Given the description of an element on the screen output the (x, y) to click on. 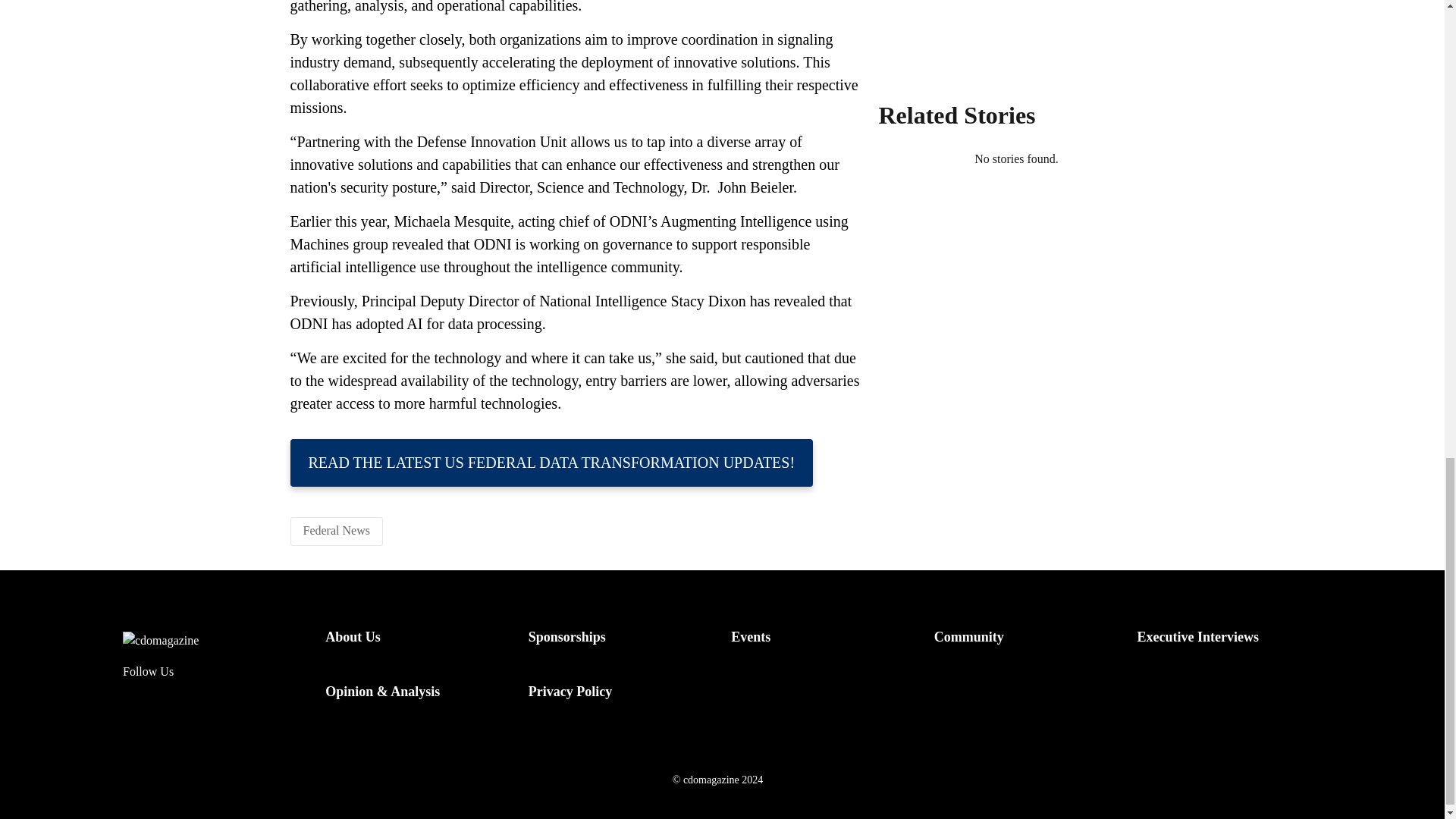
Federal News (335, 530)
Privacy Policy (569, 691)
Executive Interviews (1197, 636)
Community (969, 636)
READ THE LATEST US FEDERAL DATA TRANSFORMATION UPDATES! (550, 462)
Events (750, 636)
About Us (352, 636)
Sponsorships (566, 636)
